Given the description of an element on the screen output the (x, y) to click on. 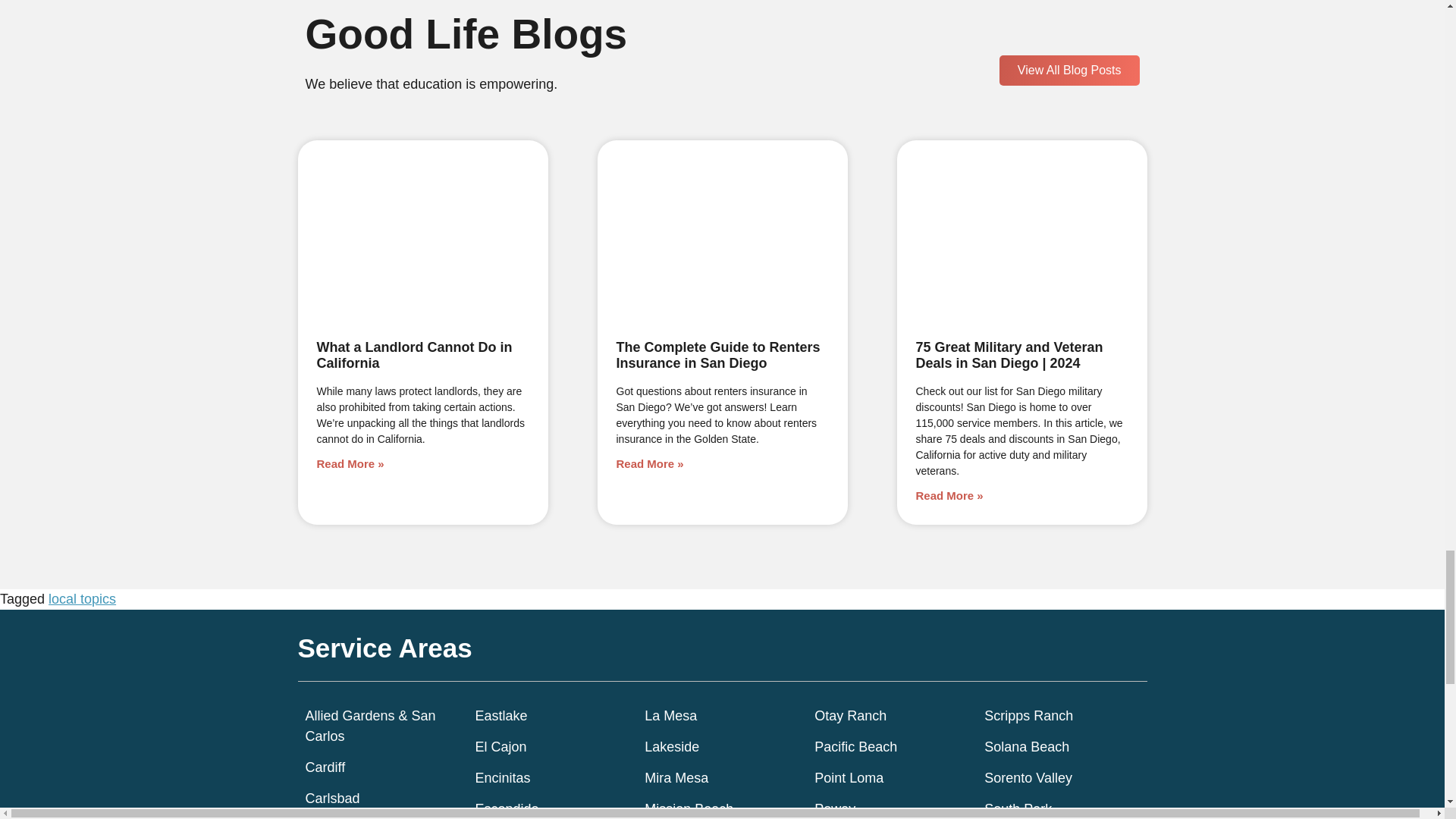
Cardiff Property Management (382, 767)
Eastlake Property Management (551, 715)
Escondido Property Management (551, 809)
Carlsbad Property Management (382, 798)
El Cajon Property Management (551, 747)
Encinitas Property Management (551, 778)
